Given the description of an element on the screen output the (x, y) to click on. 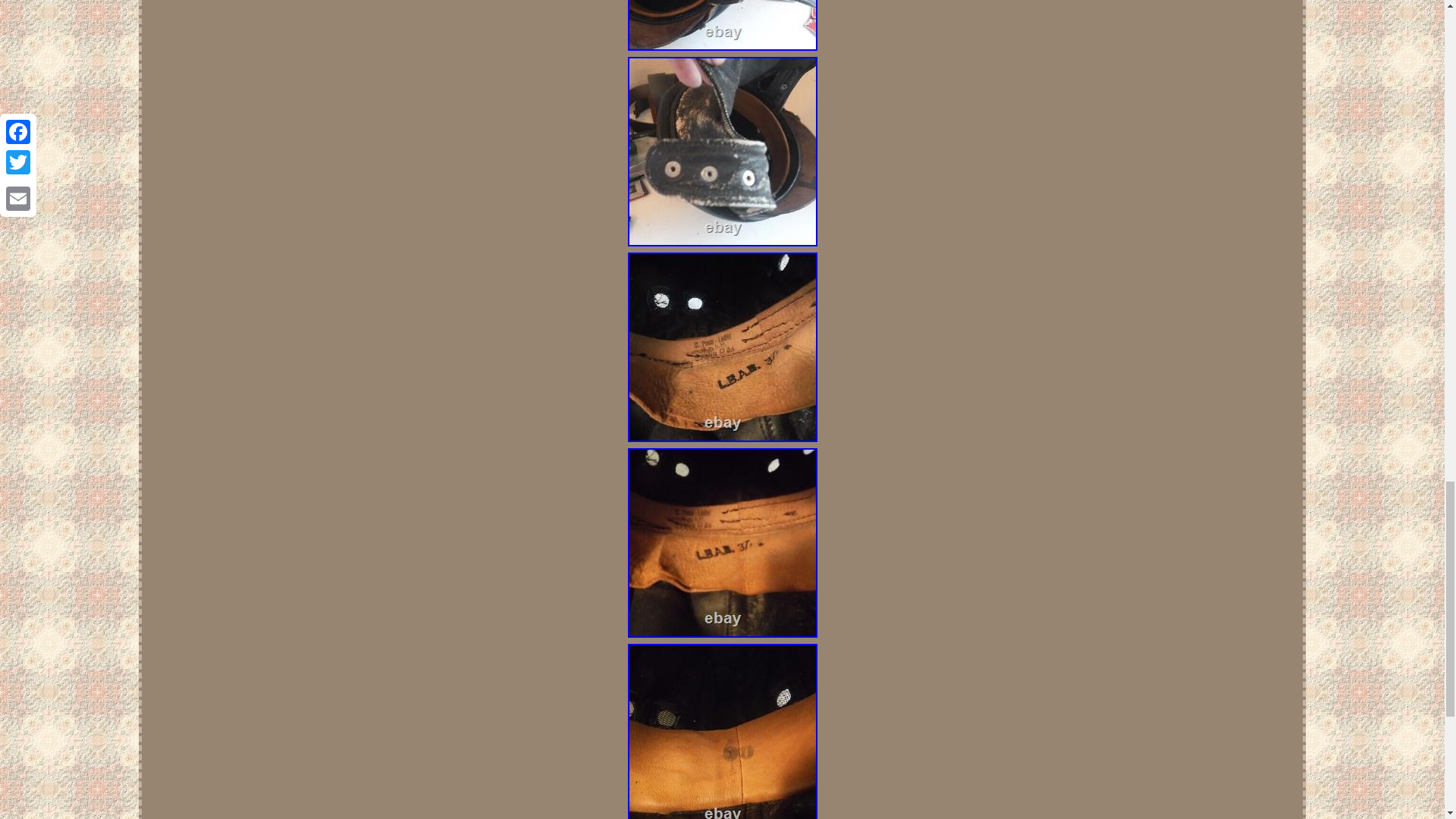
German WW2 Luftwaffe Dispatch Riders Crash Helmet (721, 25)
German WW2 Luftwaffe Dispatch Riders Crash Helmet (721, 731)
German WW2 Luftwaffe Dispatch Riders Crash Helmet (721, 347)
German WW2 Luftwaffe Dispatch Riders Crash Helmet (721, 151)
German WW2 Luftwaffe Dispatch Riders Crash Helmet (721, 542)
